Given the description of an element on the screen output the (x, y) to click on. 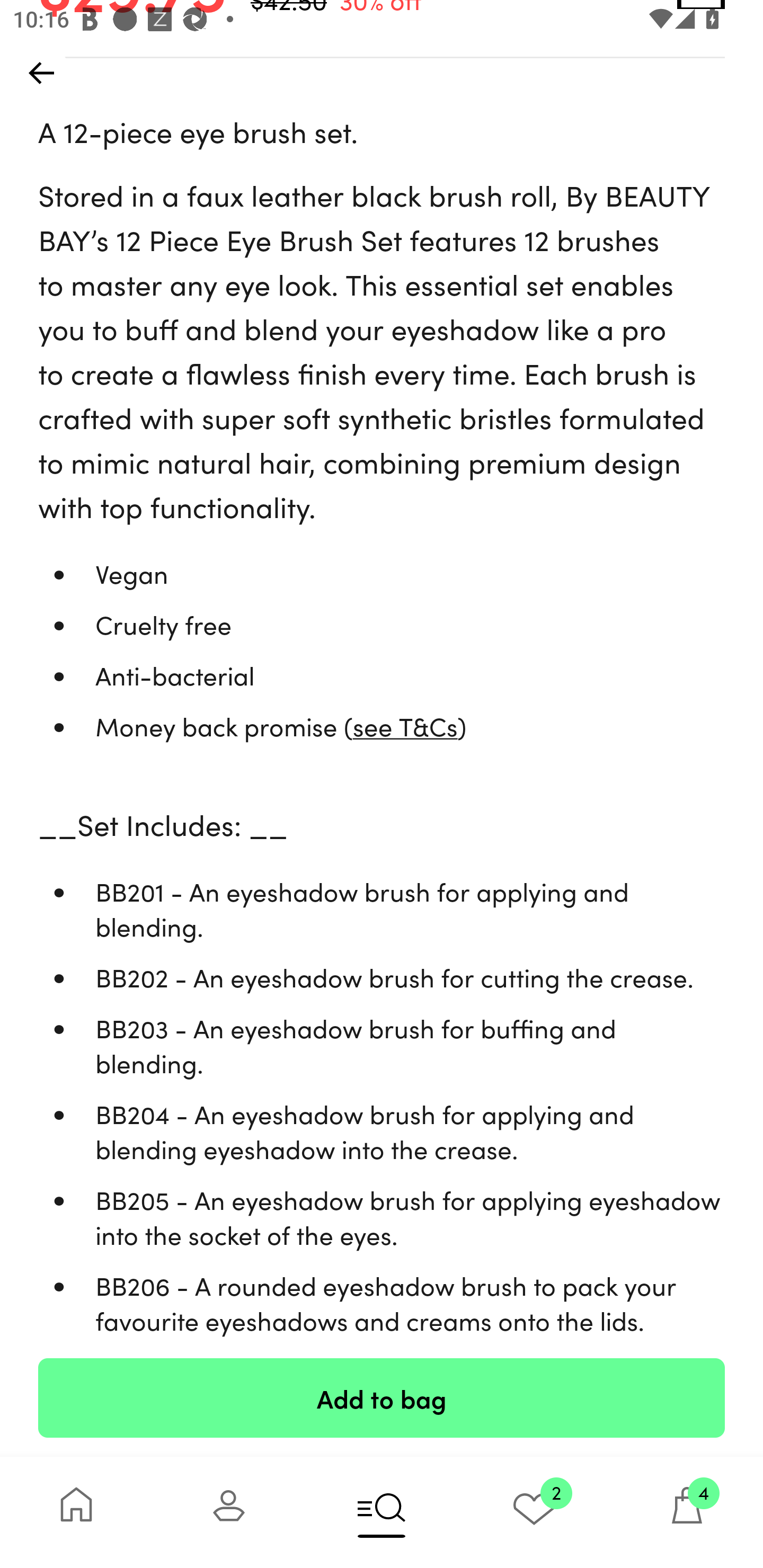
Add to bag (381, 1397)
2 (533, 1512)
4 (686, 1512)
